Given the description of an element on the screen output the (x, y) to click on. 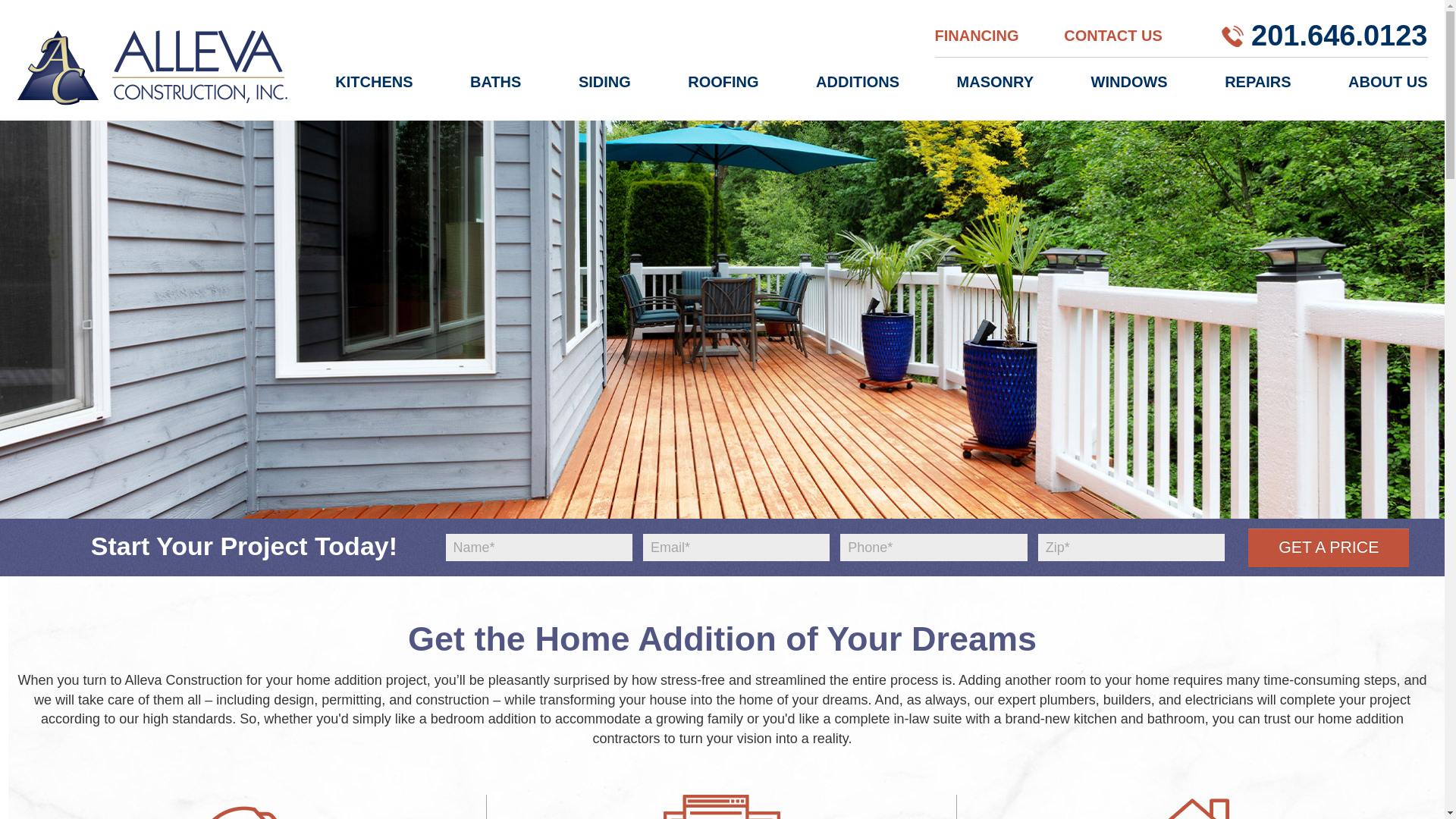
ROOFING (722, 91)
ADDITIONS (857, 91)
BATHS (495, 91)
KITCHENS (373, 91)
FINANCING (975, 35)
CONTACT US (1112, 35)
201.646.0123 (1338, 35)
SIDING (604, 91)
Call Alleva (1232, 40)
Call Alleva (1338, 35)
